Given the description of an element on the screen output the (x, y) to click on. 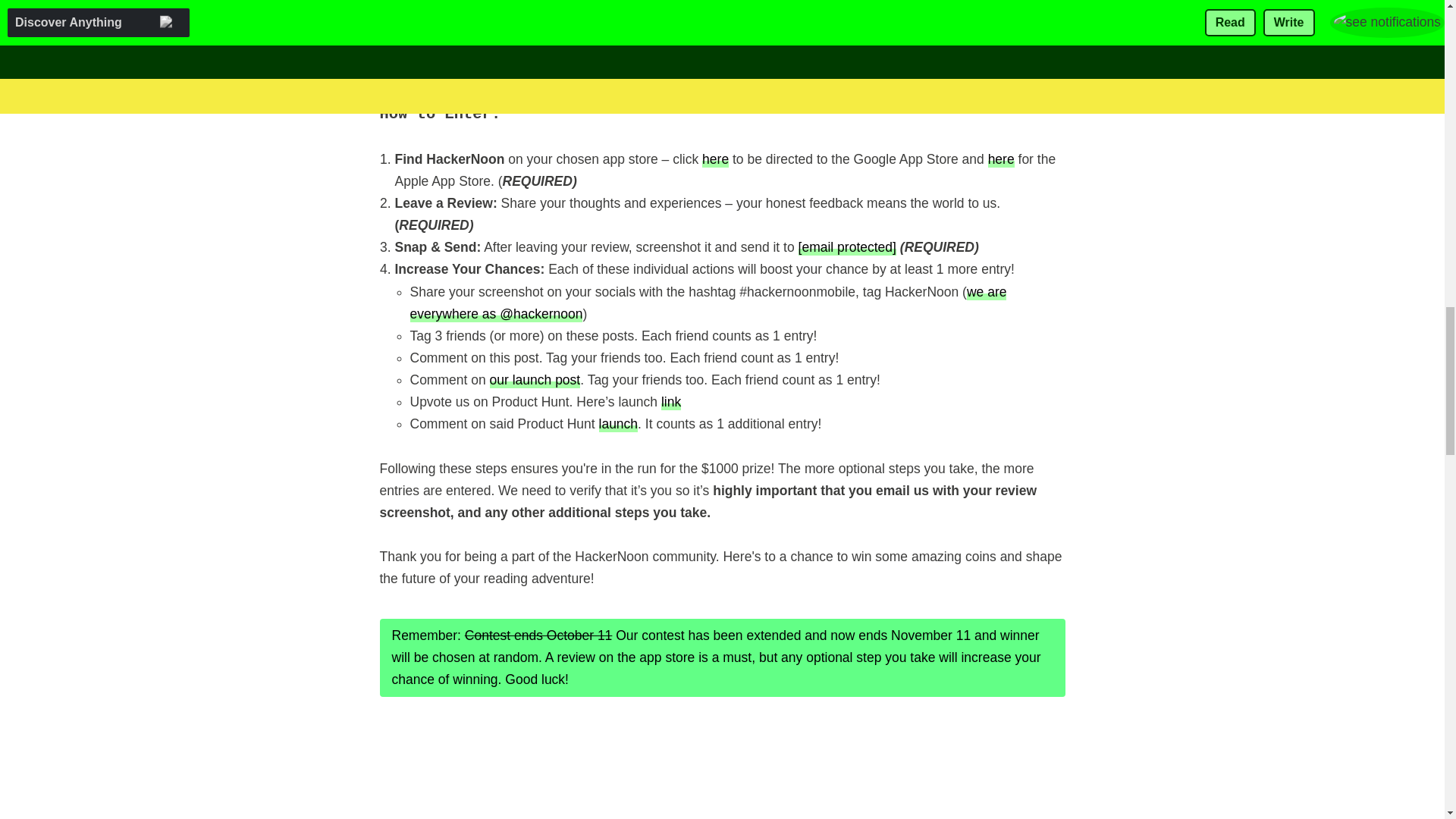
our launch post (534, 379)
here (1001, 158)
here (715, 158)
launch (618, 423)
link (671, 401)
